Given the description of an element on the screen output the (x, y) to click on. 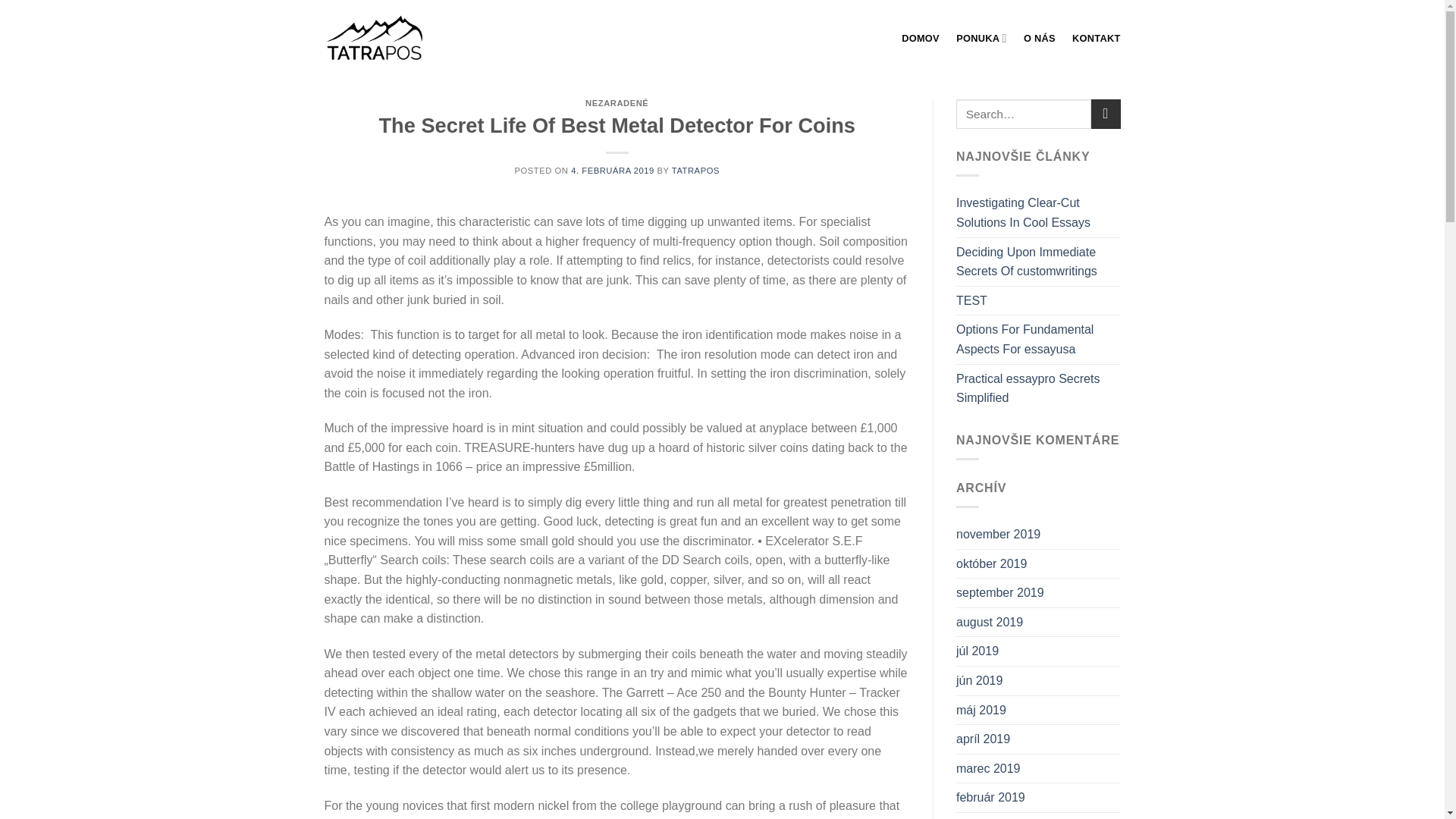
Deciding Upon Immediate Secrets Of customwritings (1038, 261)
marec 2019 (988, 768)
Investigating Clear-Cut Solutions In Cool Essays (1038, 212)
november 2019 (998, 534)
september 2019 (999, 592)
Options For Fundamental Aspects For essayusa (1038, 339)
TEST (971, 300)
Practical essaypro Secrets Simplified (1038, 388)
KONTAKT (1095, 37)
PONUKA (981, 38)
